Given the description of an element on the screen output the (x, y) to click on. 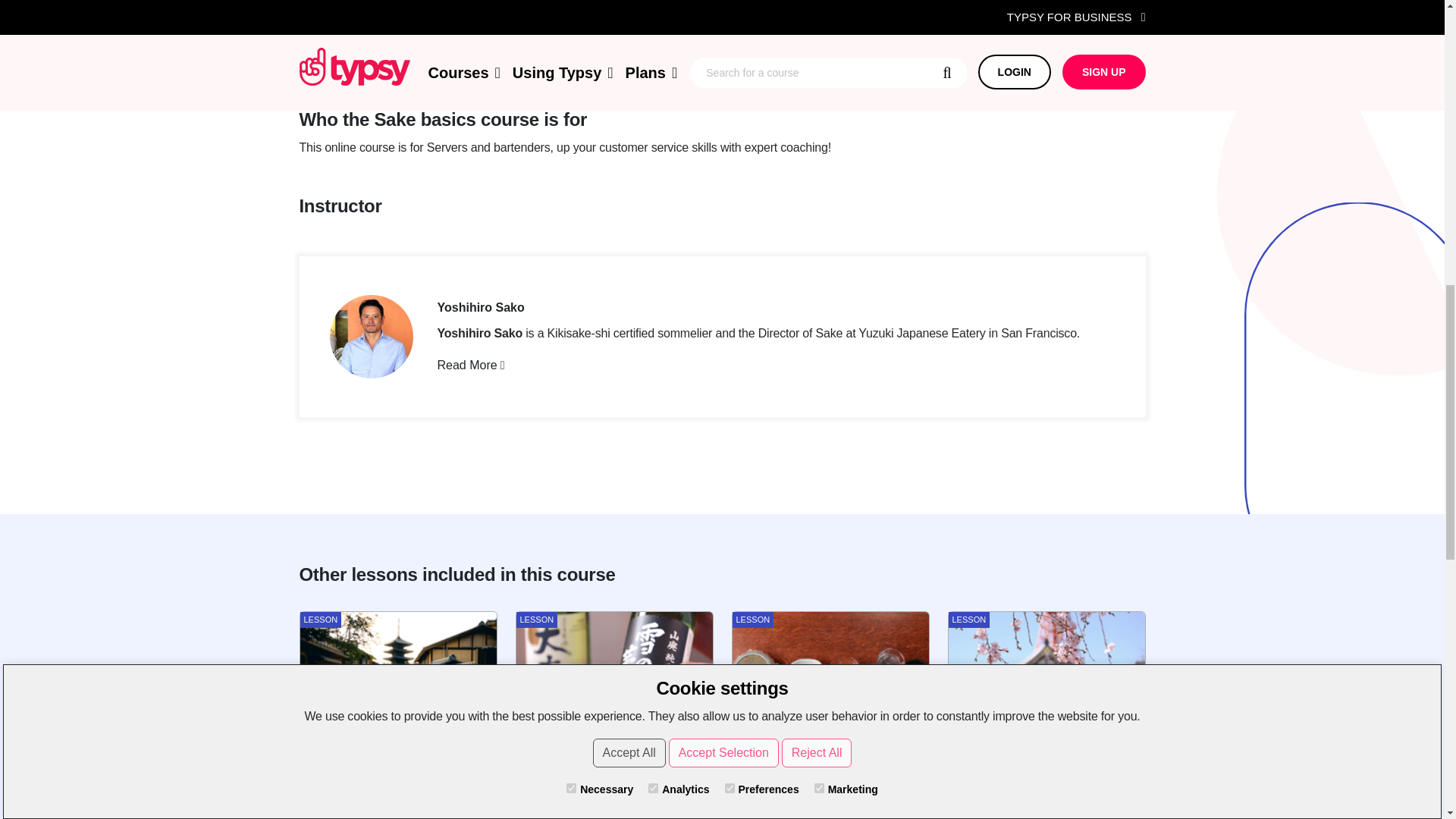
Sake ingredients (829, 714)
The length of the lesson in hours, minutes and seconds. (971, 787)
The sake brewing process (1046, 714)
The length of the lesson in hours, minutes and seconds. (539, 787)
What is sake? (397, 714)
Understanding sake classifications (614, 714)
